Given the description of an element on the screen output the (x, y) to click on. 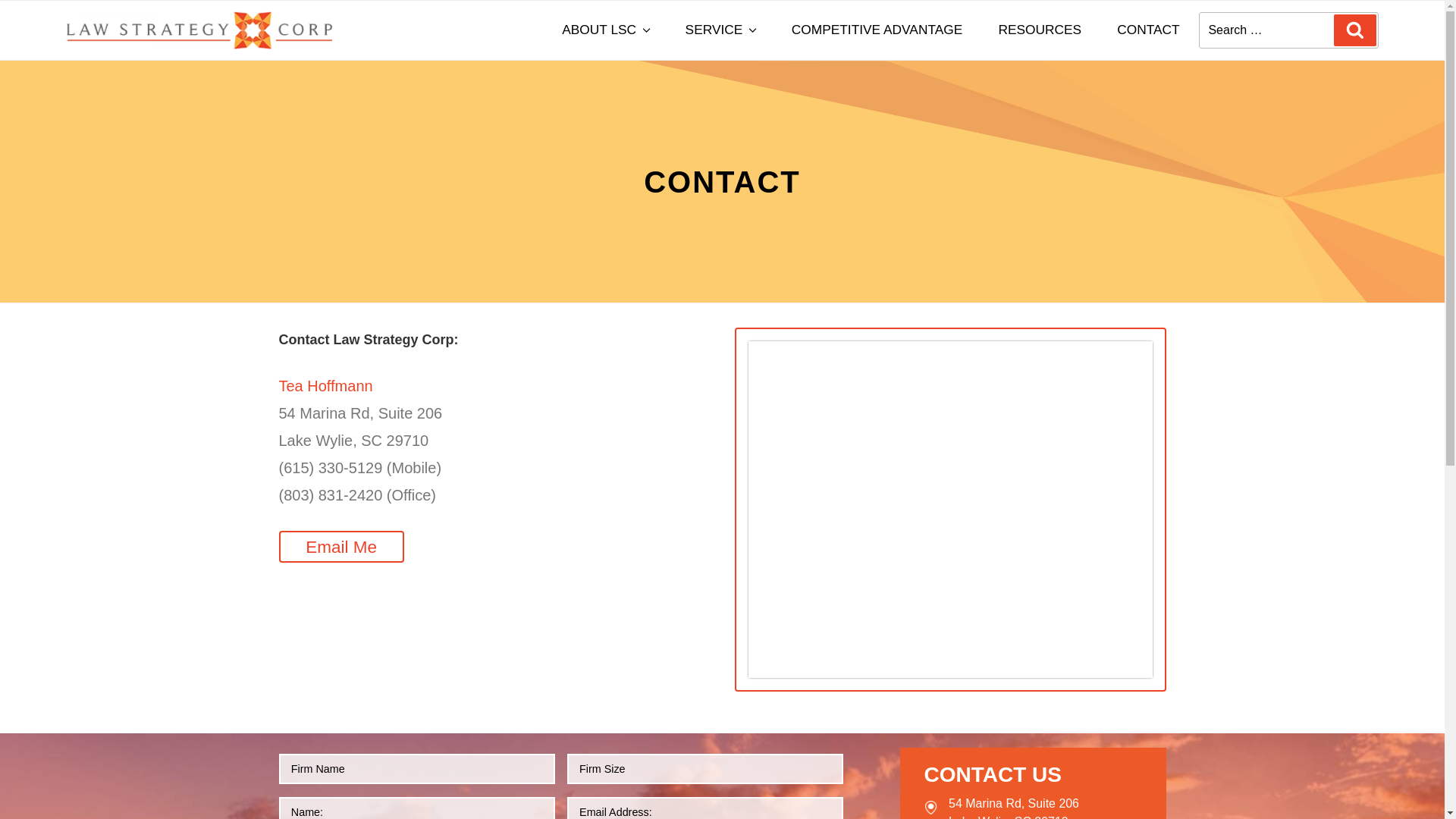
SERVICE (720, 30)
CONTACT (1147, 30)
COMPETITIVE ADVANTAGE (877, 30)
RESOURCES (1039, 30)
Search (1354, 29)
Email Me (341, 546)
ABOUT LSC (605, 30)
